Given the description of an element on the screen output the (x, y) to click on. 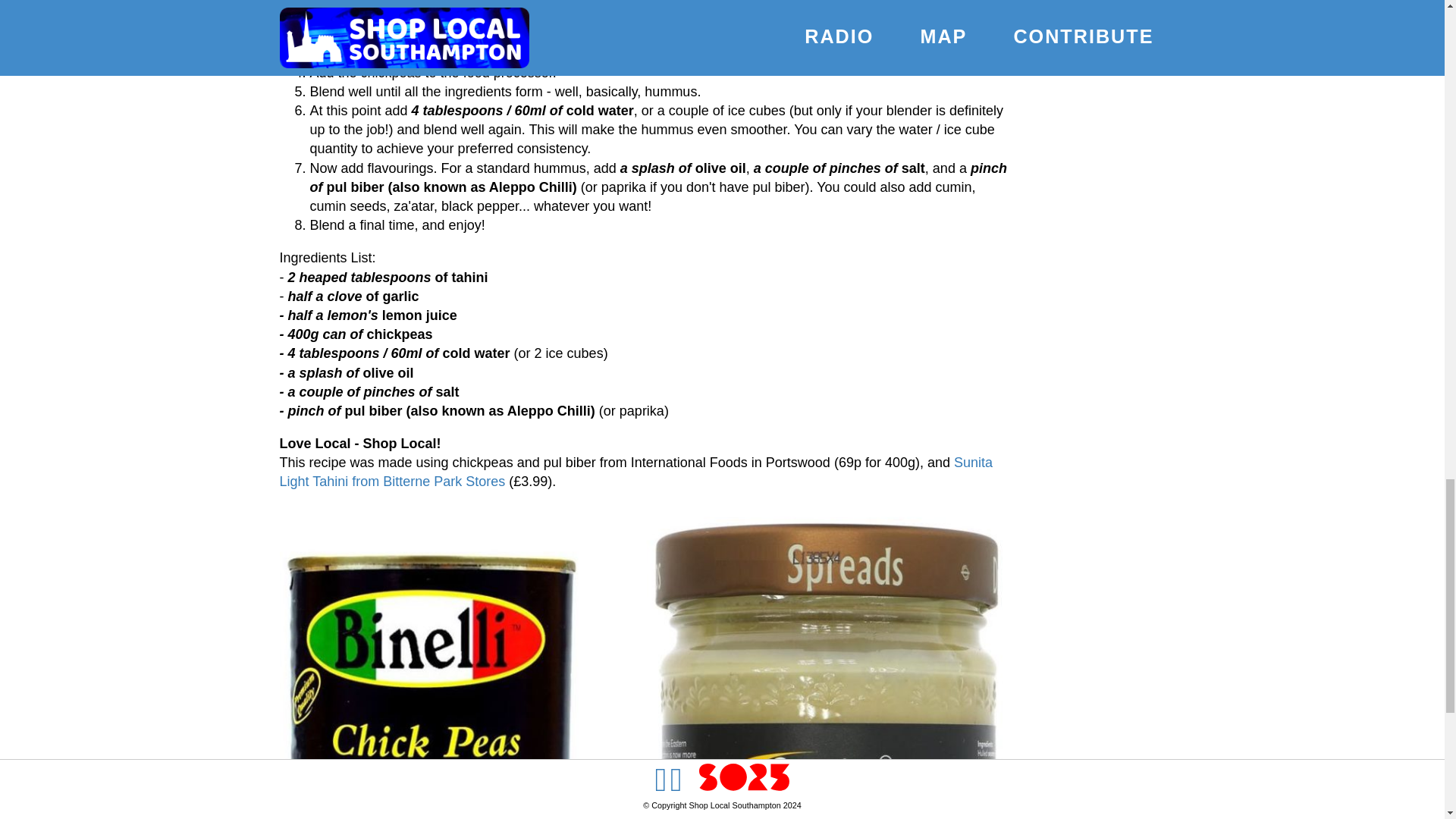
Sunita Light Tahini from Bitterne Park Stores (635, 471)
